Given the description of an element on the screen output the (x, y) to click on. 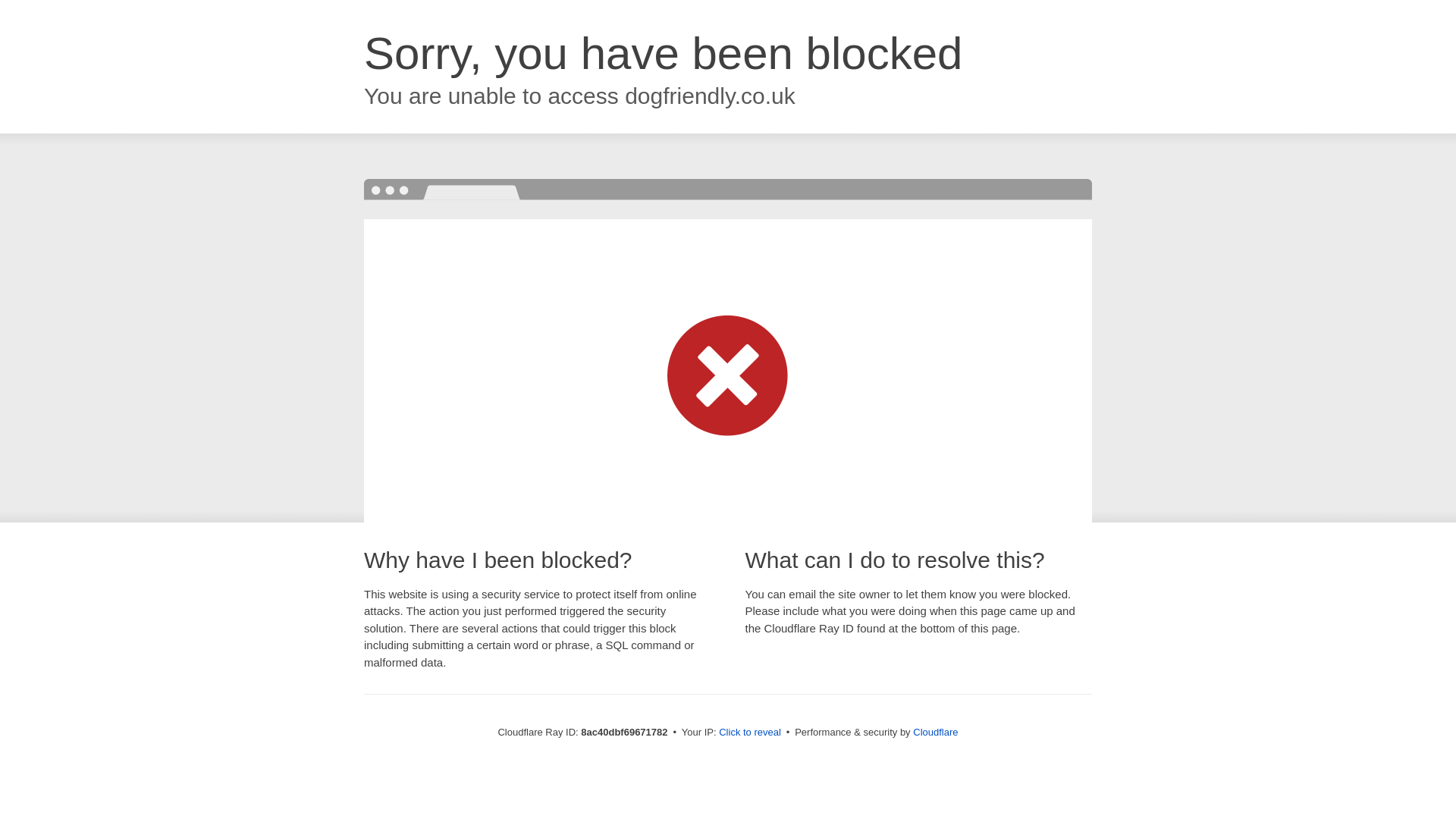
Click to reveal (749, 732)
Cloudflare (935, 731)
